Given the description of an element on the screen output the (x, y) to click on. 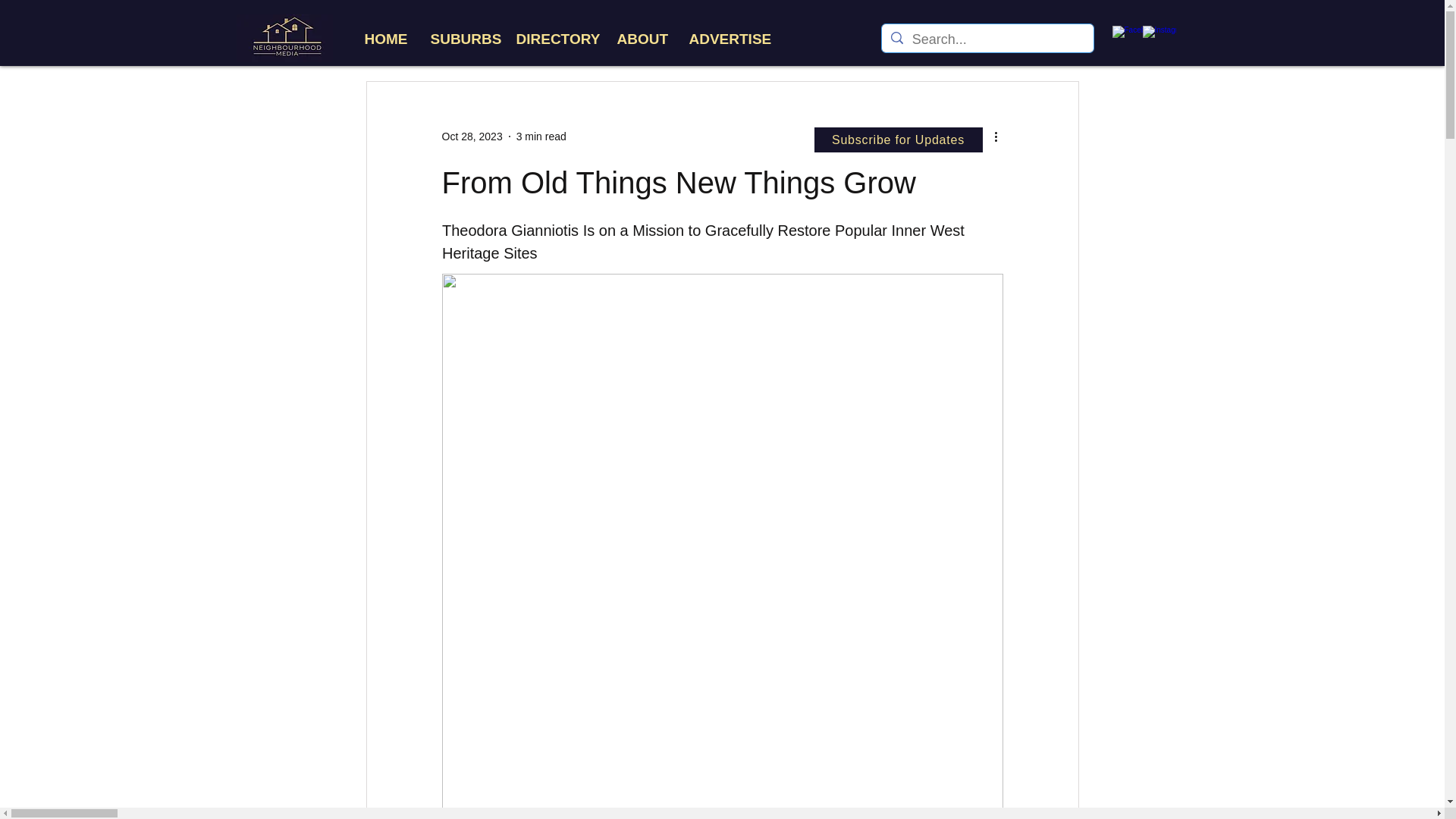
DIRECTORY (555, 37)
HOME (385, 37)
Oct 28, 2023 (471, 136)
SUBURBS (461, 37)
ADVERTISE (726, 37)
Subscribe for Updates (897, 139)
3 min read (541, 136)
ABOUT (641, 37)
